Given the description of an element on the screen output the (x, y) to click on. 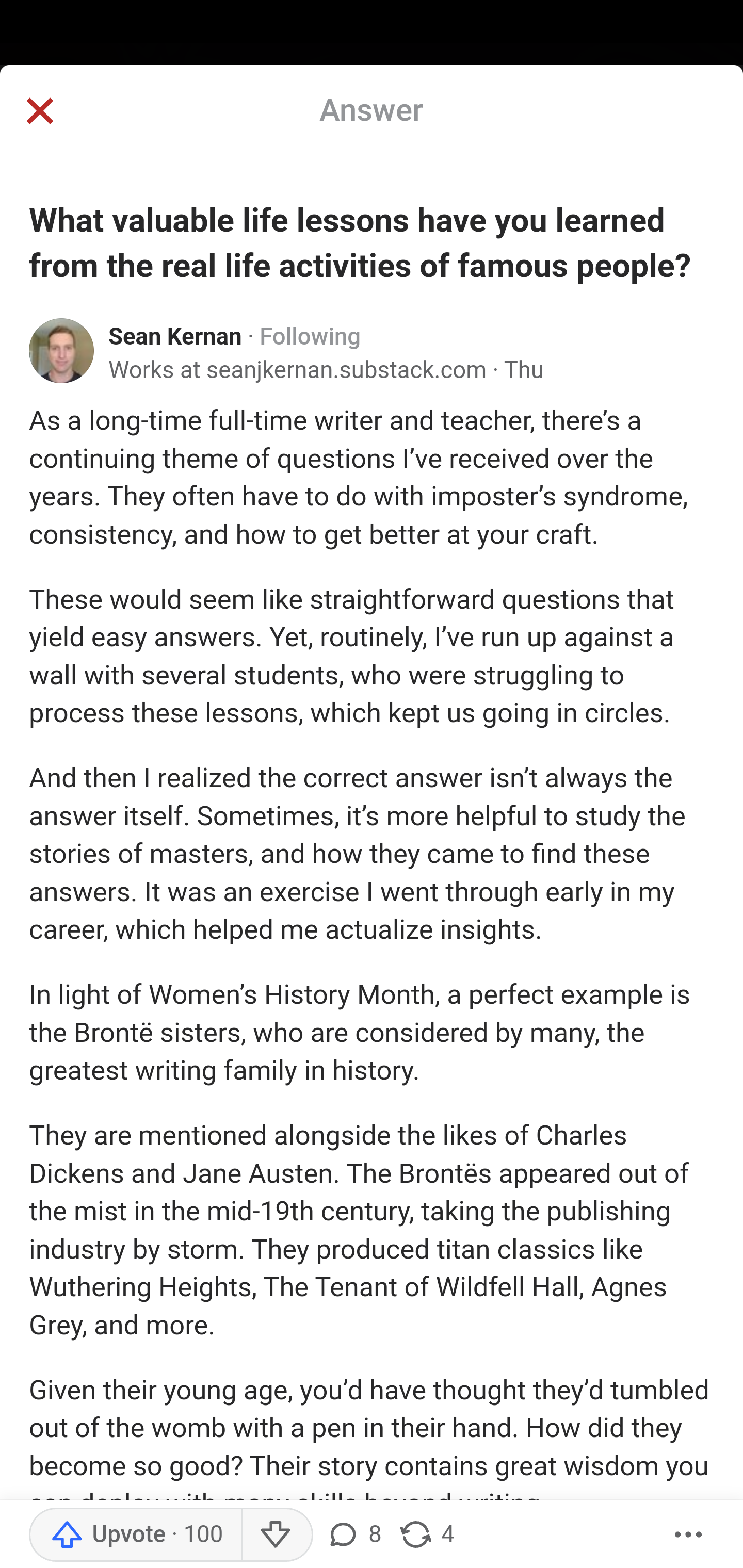
 (39, 112)
Profile photo for Sean Kernan (61, 351)
Sean Kernan (175, 337)
Following (309, 337)
Upvote (135, 1534)
Downvote (277, 1534)
8 comments (353, 1534)
4 shares (425, 1534)
More (688, 1534)
